Given the description of an element on the screen output the (x, y) to click on. 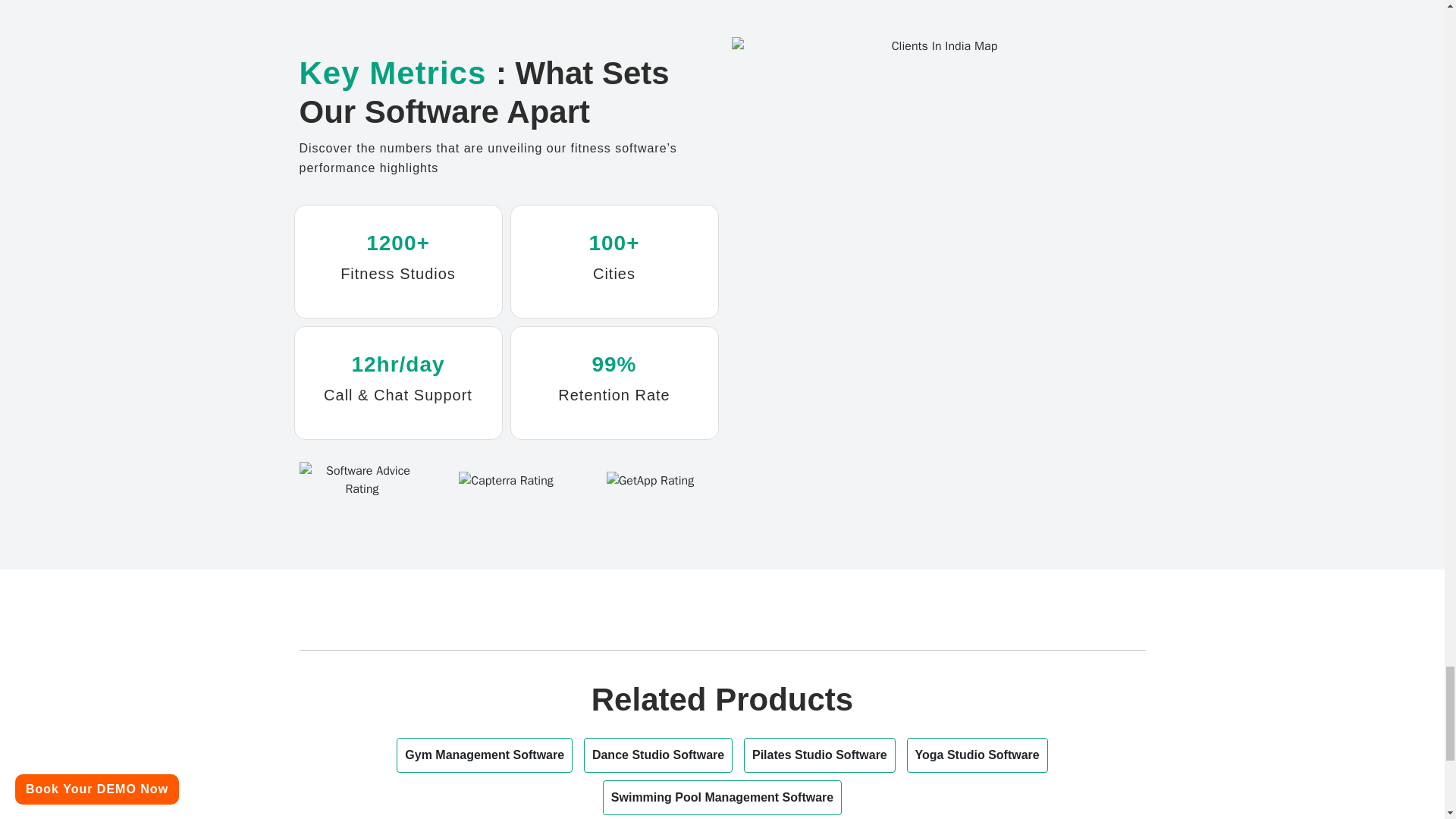
Check on SoftwareAdvice (361, 478)
Check on Capttera (505, 479)
